Given the description of an element on the screen output the (x, y) to click on. 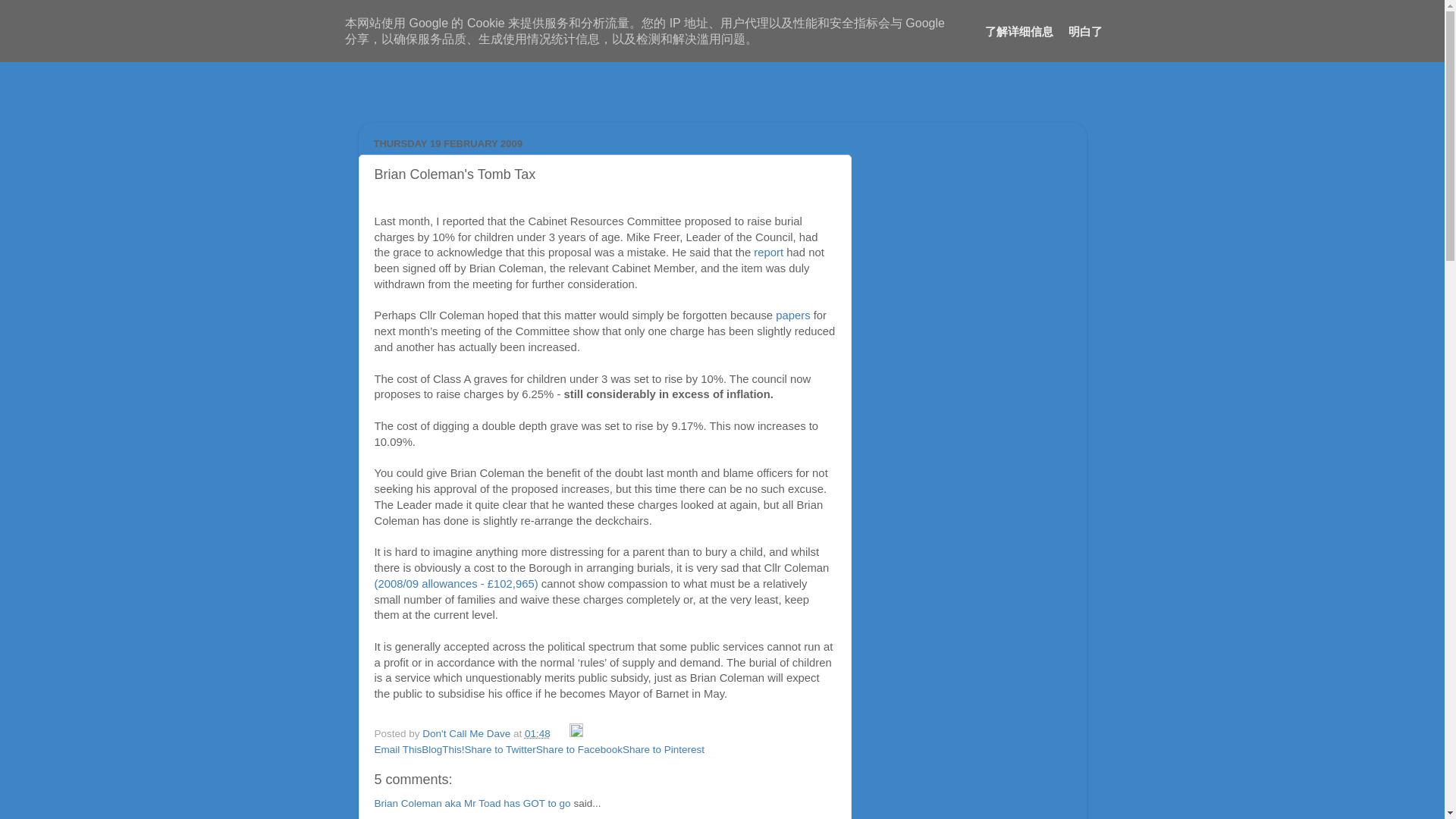
permanent link (537, 733)
Share to Pinterest (663, 749)
Share to Twitter (499, 749)
Share to Pinterest (663, 749)
Email This (398, 749)
Email Post (561, 733)
Email This (398, 749)
Share to Facebook (579, 749)
01:48 (537, 733)
Brian Coleman aka Mr Toad has GOT to go (472, 803)
Share to Facebook (579, 749)
papers (792, 315)
Don't Call Me Dave (467, 733)
Edit Post (576, 733)
Share to Twitter (499, 749)
